Given the description of an element on the screen output the (x, y) to click on. 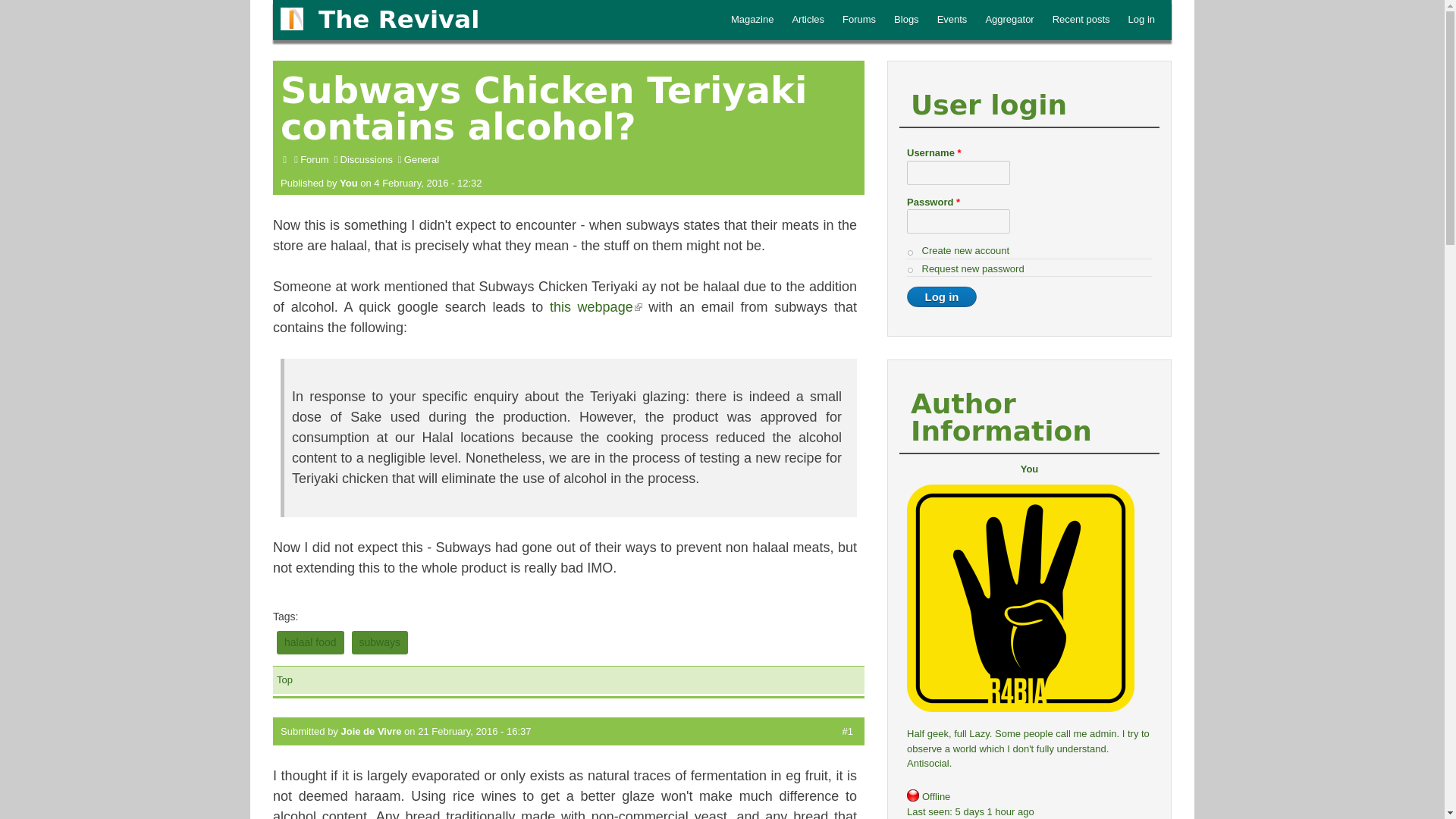
Top (284, 679)
Create new account (965, 250)
Home (291, 18)
Log in (941, 296)
Forums (858, 19)
General (421, 159)
Request new password via e-mail. (973, 267)
Forum (314, 159)
Recent posts (1081, 19)
Home (398, 19)
Discussions (366, 159)
View user profile. (370, 731)
Skip to main content (774, 1)
Create a new user account. (965, 250)
Events (952, 19)
